Given the description of an element on the screen output the (x, y) to click on. 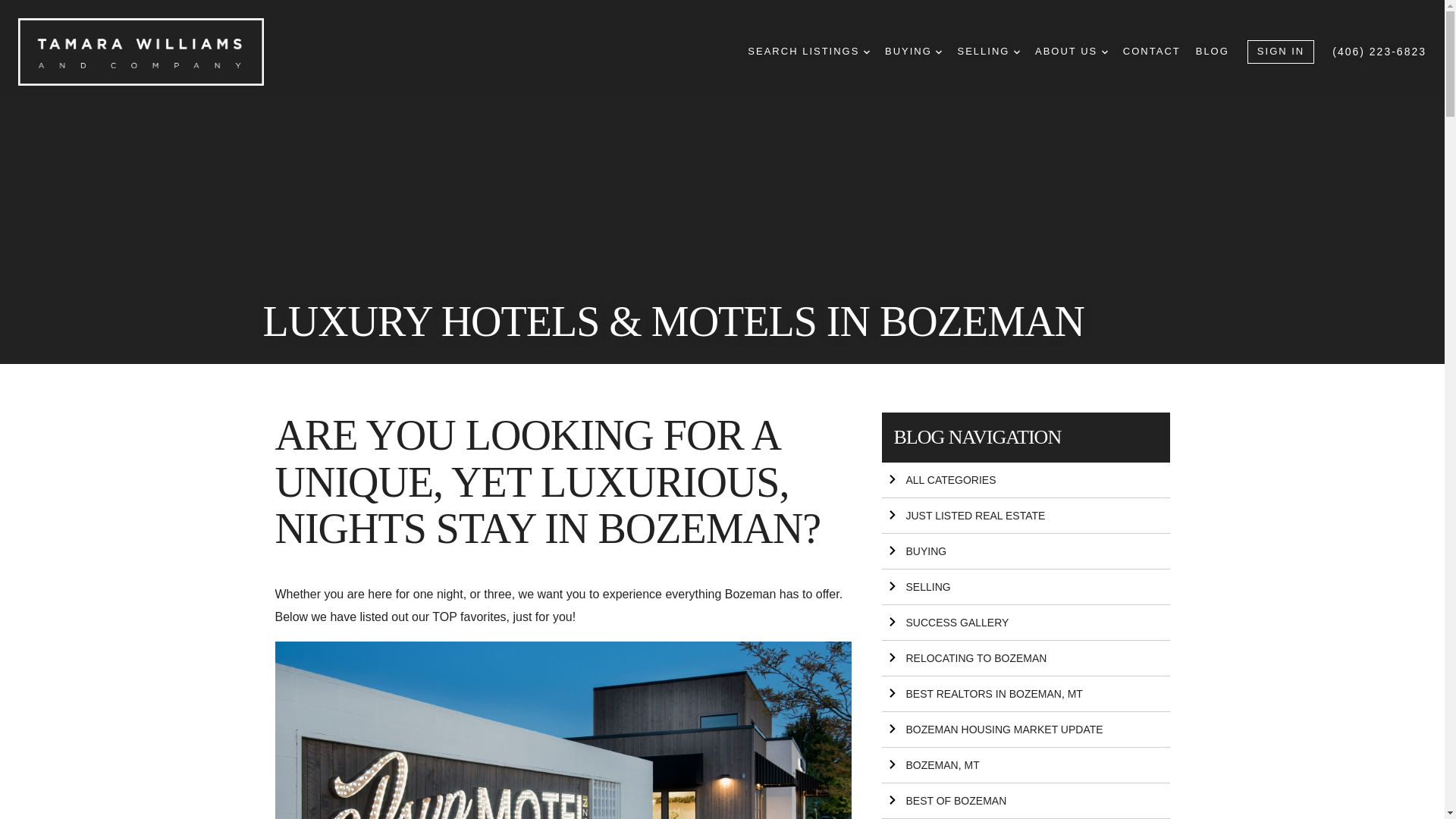
BUYING DROPDOWN ARROW (913, 51)
ABOUT US DROPDOWN ARROW (1071, 51)
SELLING DROPDOWN ARROW (988, 51)
DROPDOWN ARROW (939, 52)
DROPDOWN ARROW (1016, 52)
SEARCH LISTINGS DROPDOWN ARROW (808, 51)
DROPDOWN ARROW (866, 52)
DROPDOWN ARROW (1105, 52)
CONTACT (1151, 51)
BLOG (1211, 51)
